Given the description of an element on the screen output the (x, y) to click on. 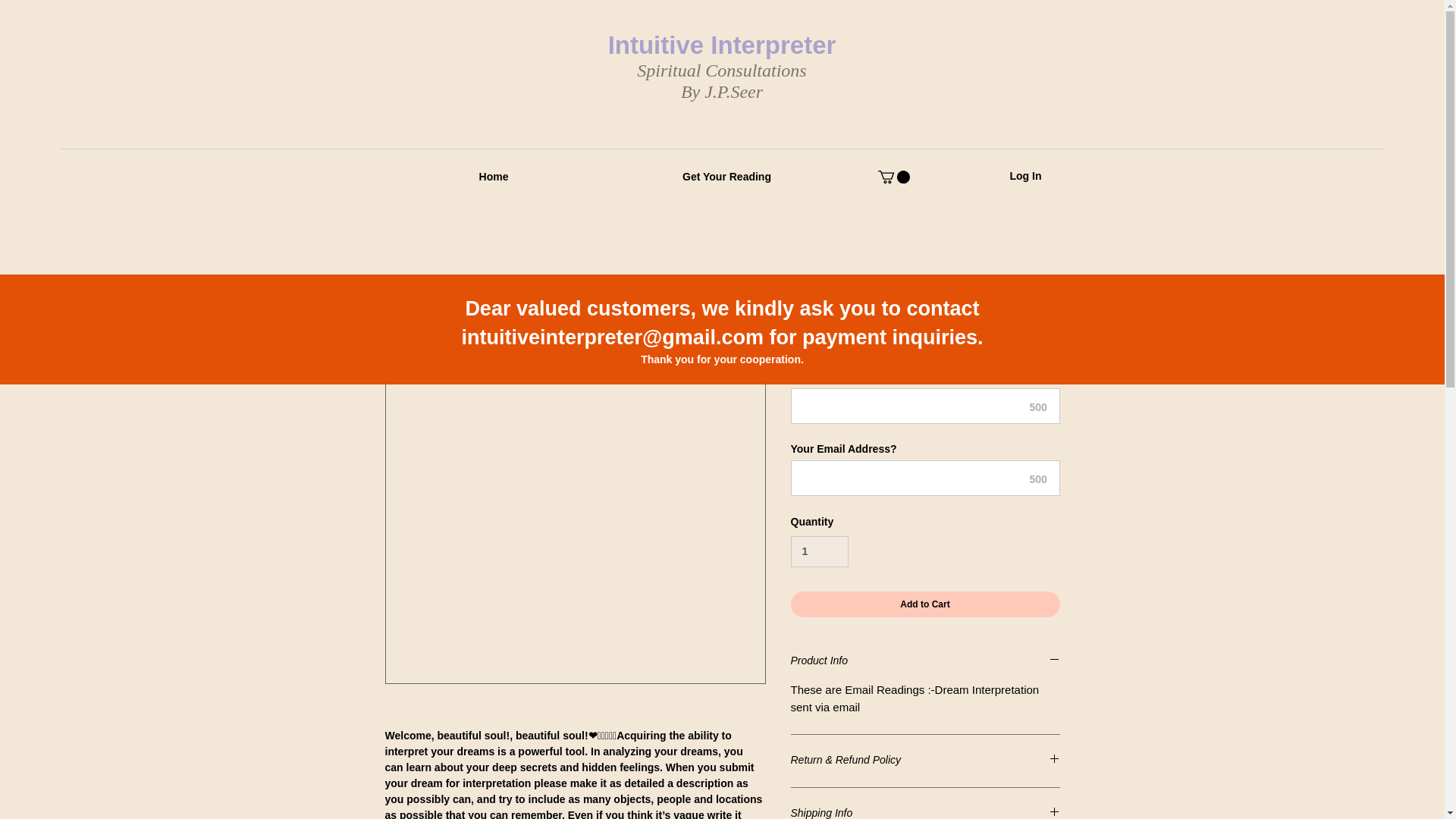
Intuitive Interpreter (721, 44)
Product Info (924, 661)
Add to Cart (924, 604)
Home (494, 176)
Log In (1025, 176)
Shipping Info (924, 812)
1 (818, 551)
By J.P.Seer (721, 91)
Get Your Reading (726, 176)
